Given the description of an element on the screen output the (x, y) to click on. 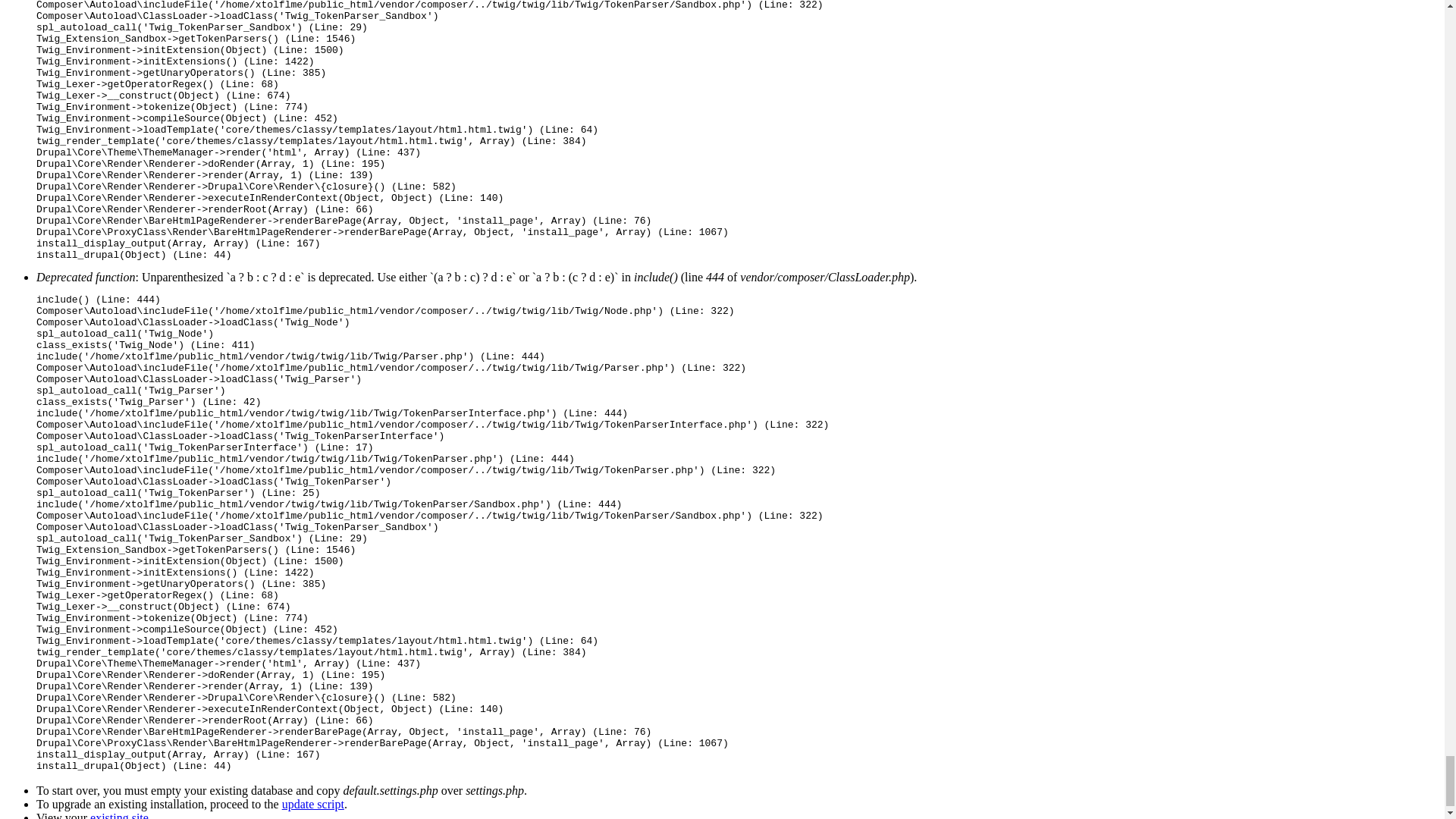
update script (312, 803)
